Given the description of an element on the screen output the (x, y) to click on. 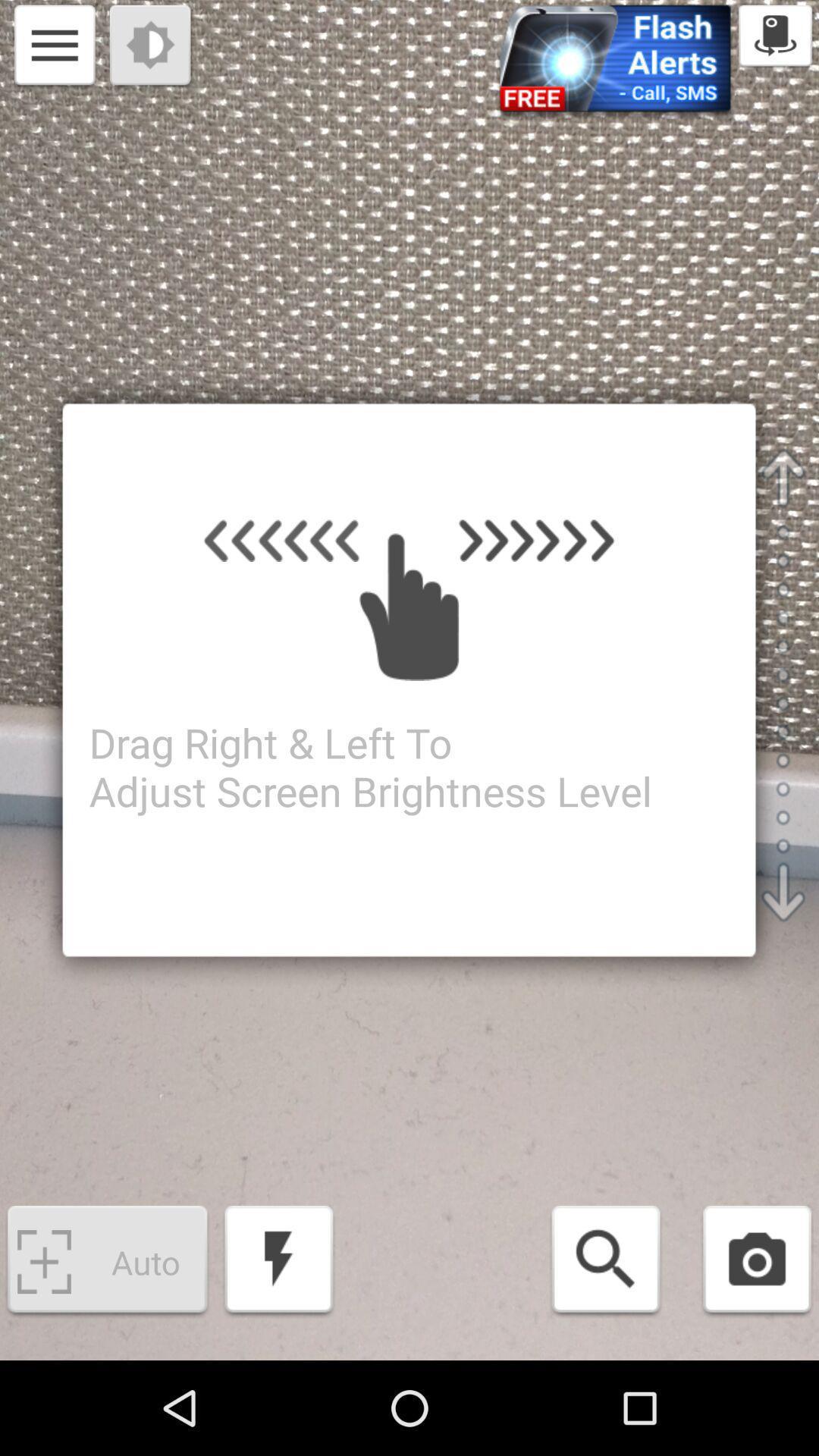
click icon to the right of the auto icon (278, 1261)
